Given the description of an element on the screen output the (x, y) to click on. 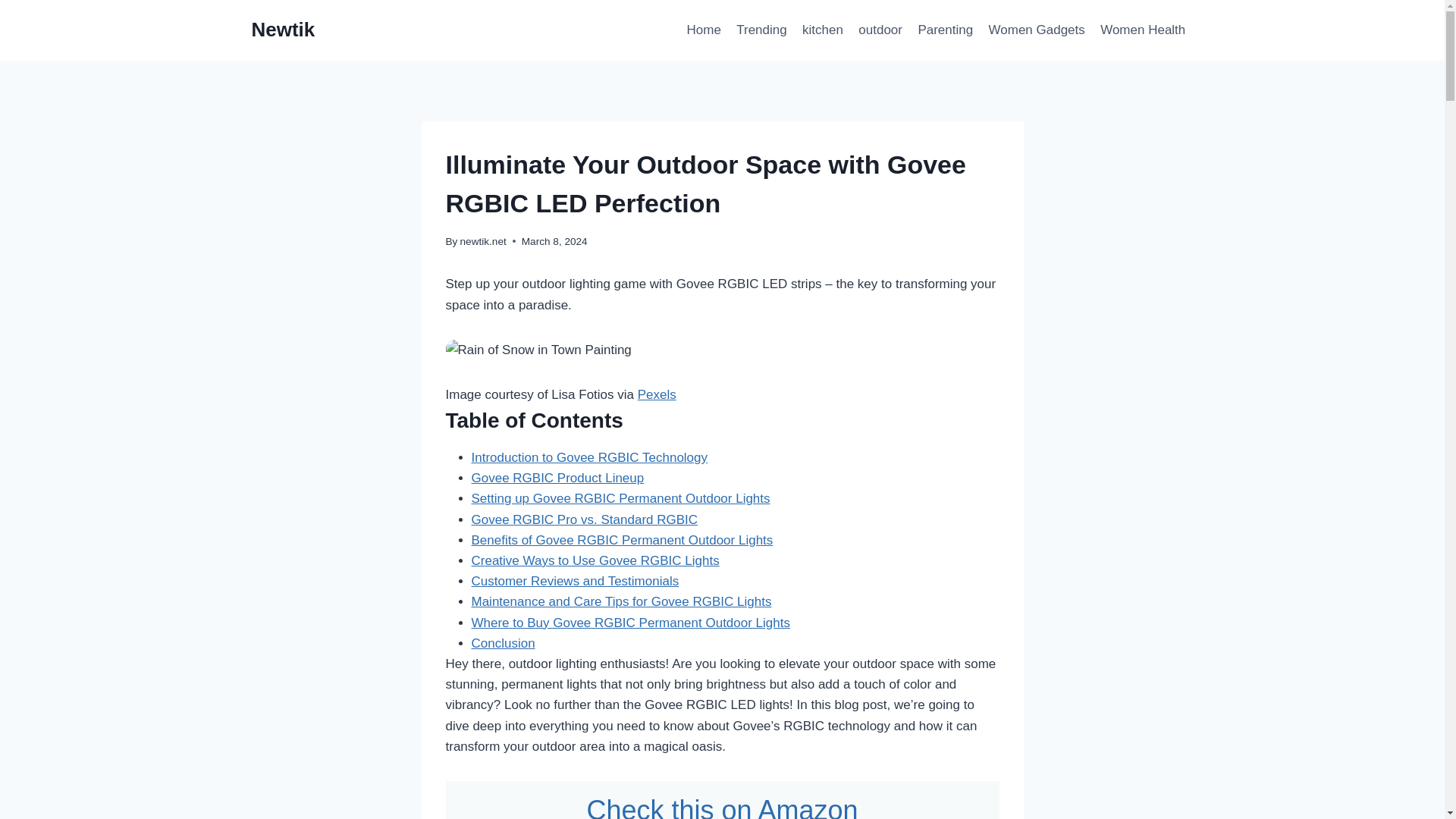
Pexels (657, 394)
Parenting (944, 30)
Govee RGBIC Pro vs. Standard RGBIC (584, 519)
Govee RGBIC Product Lineup (558, 477)
Conclusion (503, 643)
Creative Ways to Use Govee RGBIC Lights (595, 560)
Trending (761, 30)
newtik.net (483, 241)
kitchen (822, 30)
Introduction to Govee RGBIC Technology (589, 457)
Where to Buy Govee RGBIC Permanent Outdoor Lights (630, 622)
Maintenance and Care Tips for Govee RGBIC Lights (621, 601)
Customer Reviews and Testimonials (575, 581)
Benefits of Govee RGBIC Permanent Outdoor Lights (622, 540)
Home (703, 30)
